Given the description of an element on the screen output the (x, y) to click on. 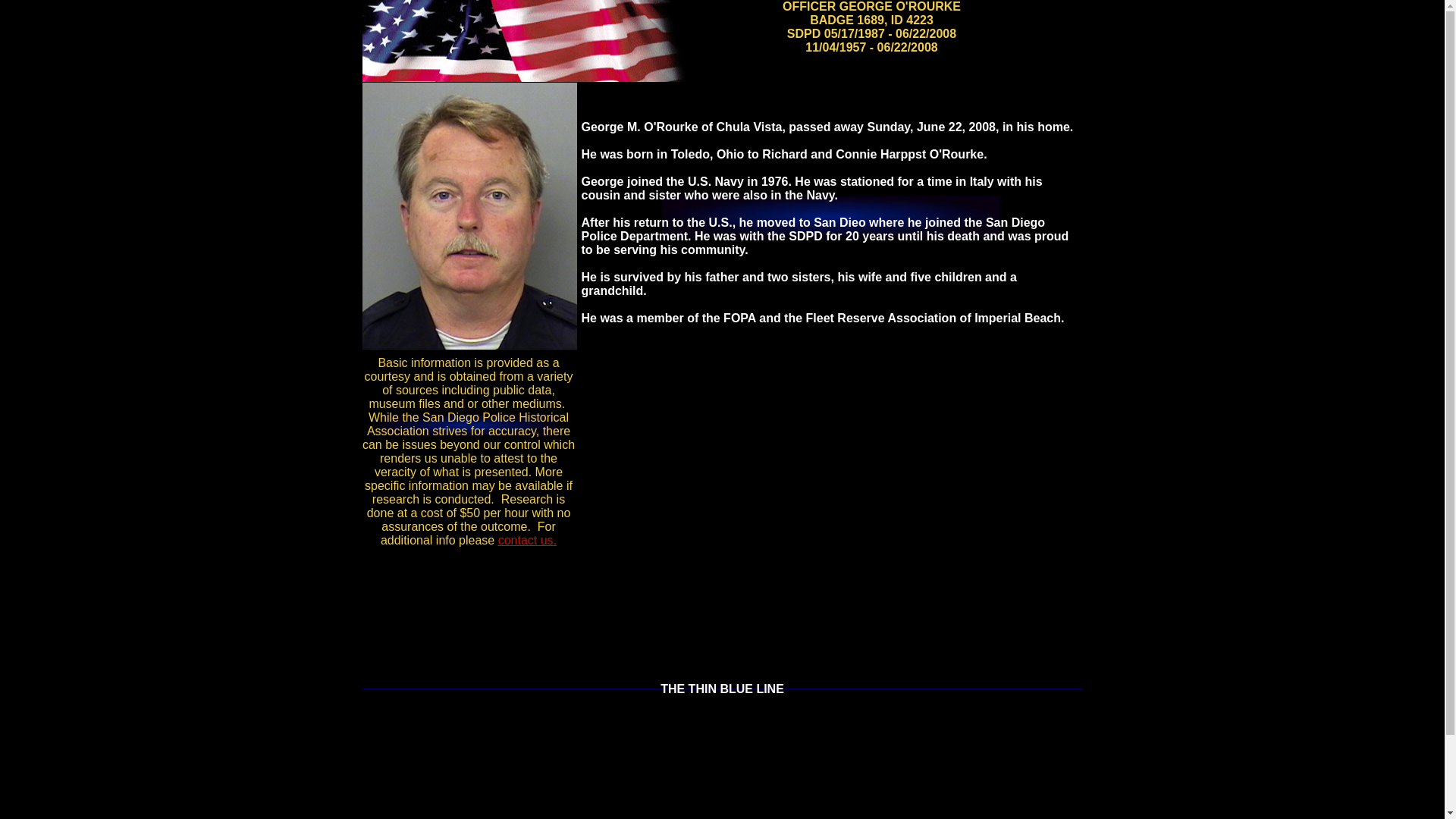
contact us (525, 540)
